Given the description of an element on the screen output the (x, y) to click on. 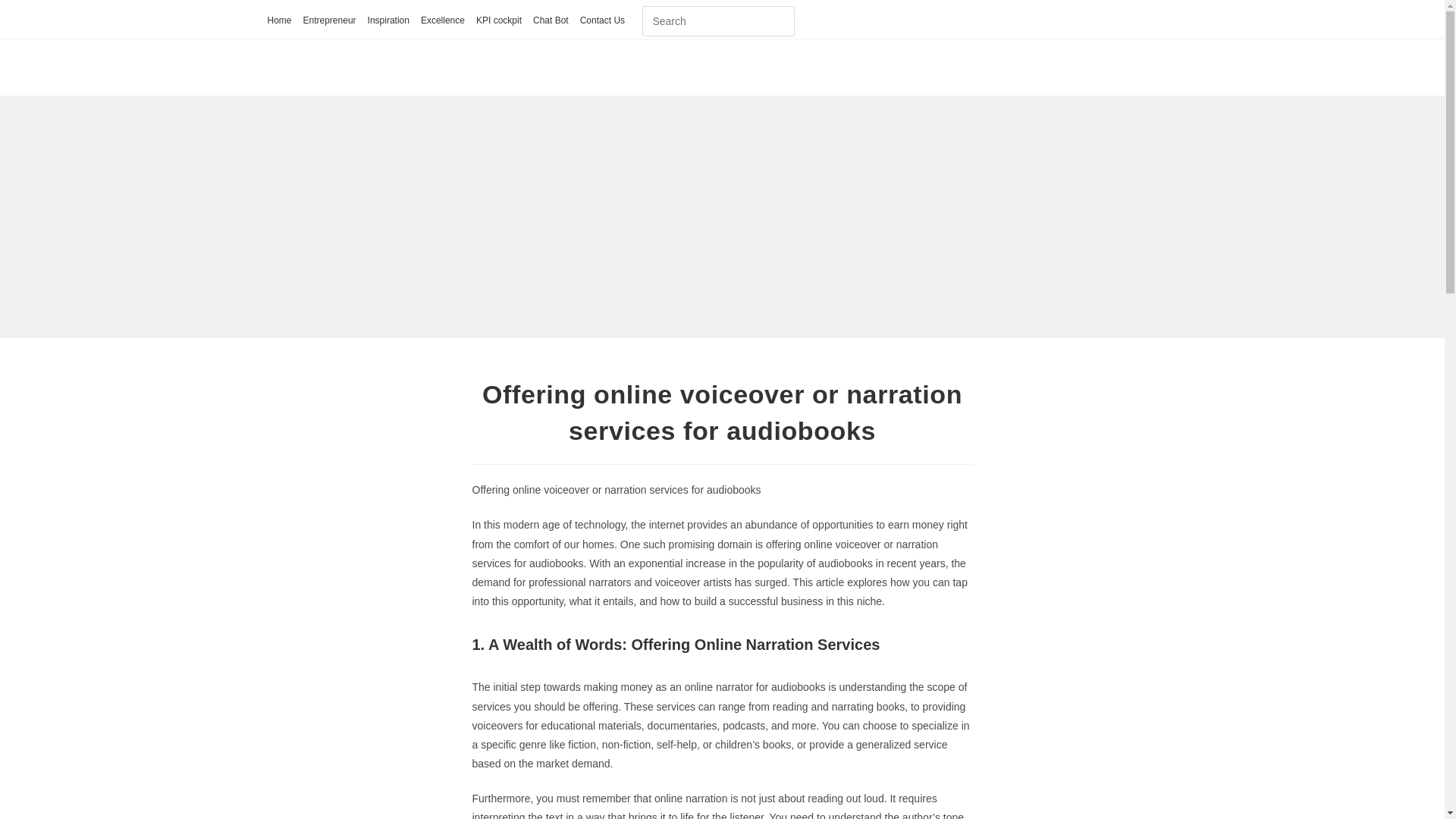
Chat Bot (550, 21)
Excellence (442, 21)
KPI cockpit (498, 21)
Inspiration (388, 21)
Home (278, 21)
Contact Us (601, 21)
Entrepreneur (329, 21)
